Given the description of an element on the screen output the (x, y) to click on. 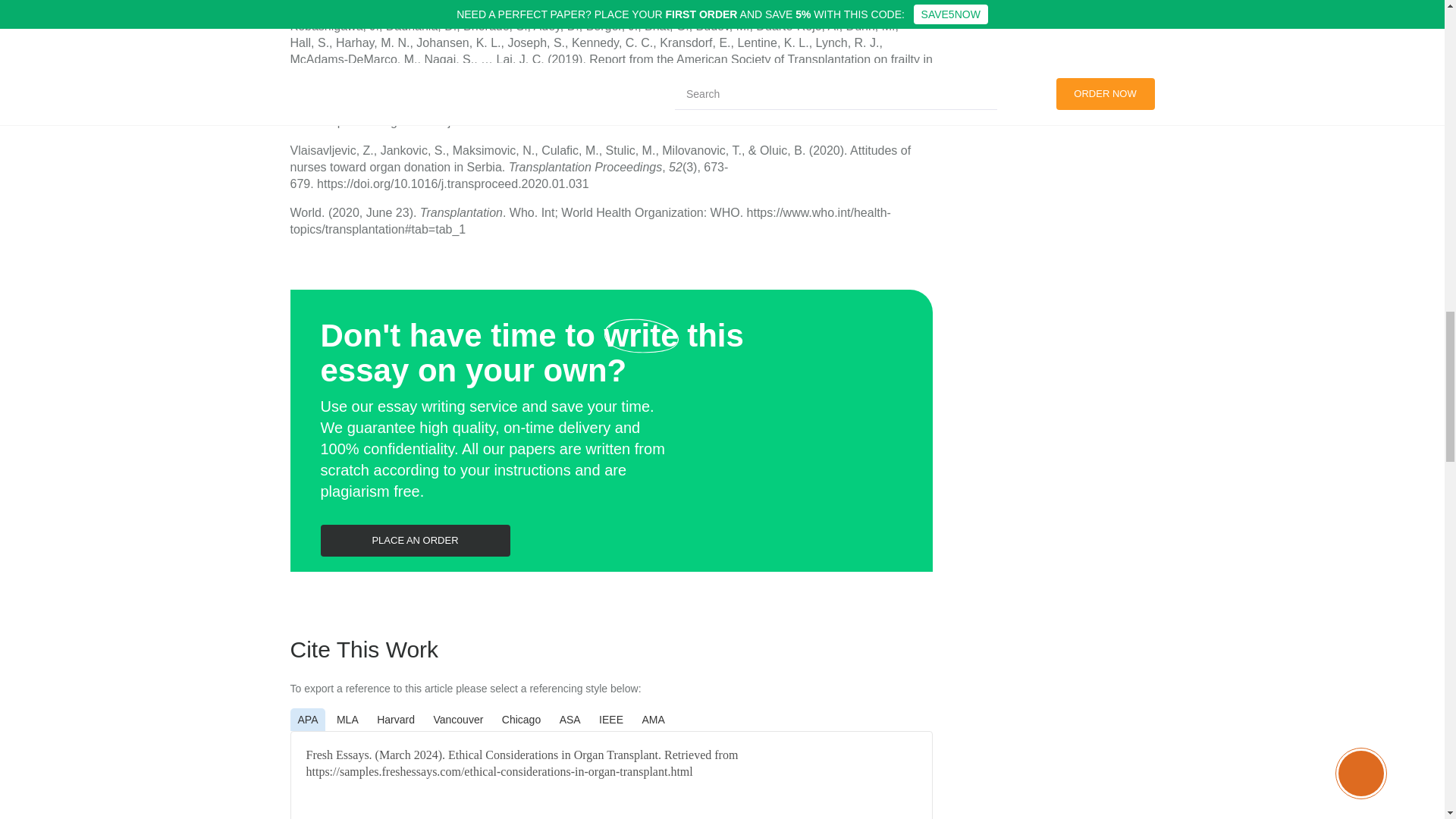
PLACE AN ORDER (414, 540)
